Given the description of an element on the screen output the (x, y) to click on. 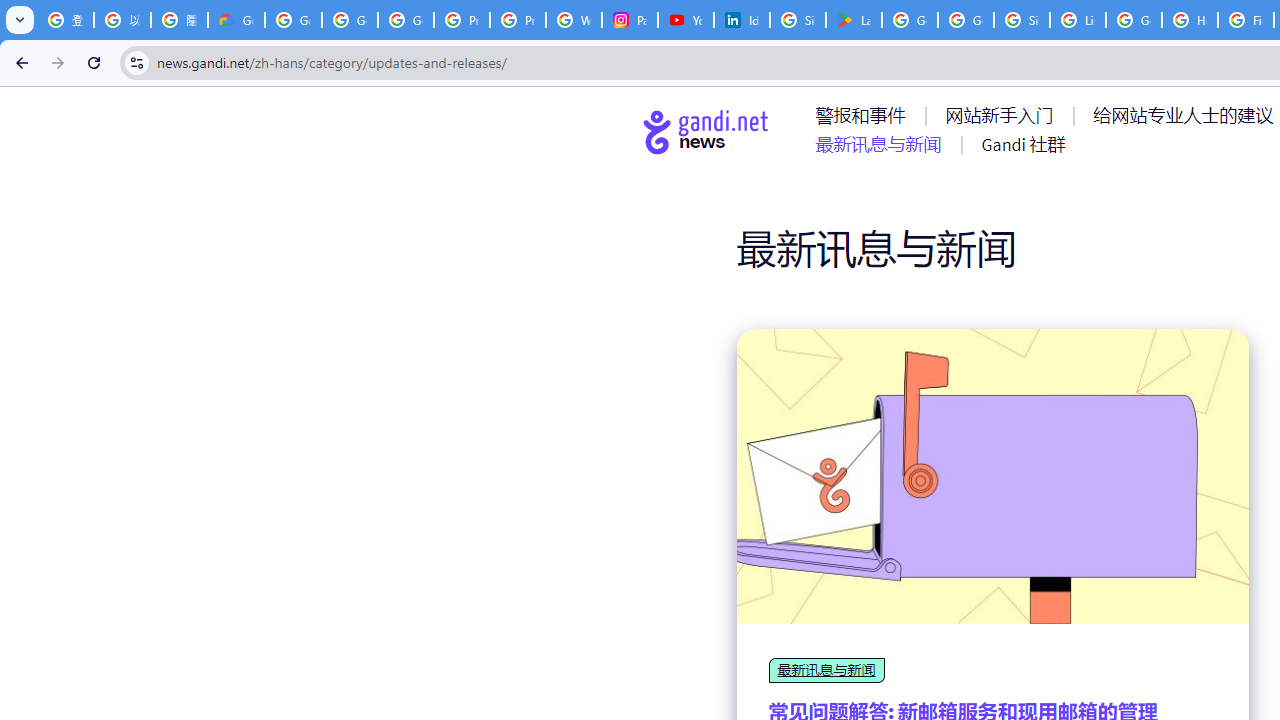
Privacy Help Center - Policies Help (518, 20)
Sign in - Google Accounts (797, 20)
Last Shelter: Survival - Apps on Google Play (853, 20)
Privacy Help Center - Policies Help (461, 20)
YouTube Culture & Trends - On The Rise: Handcam Videos (685, 20)
